Given the description of an element on the screen output the (x, y) to click on. 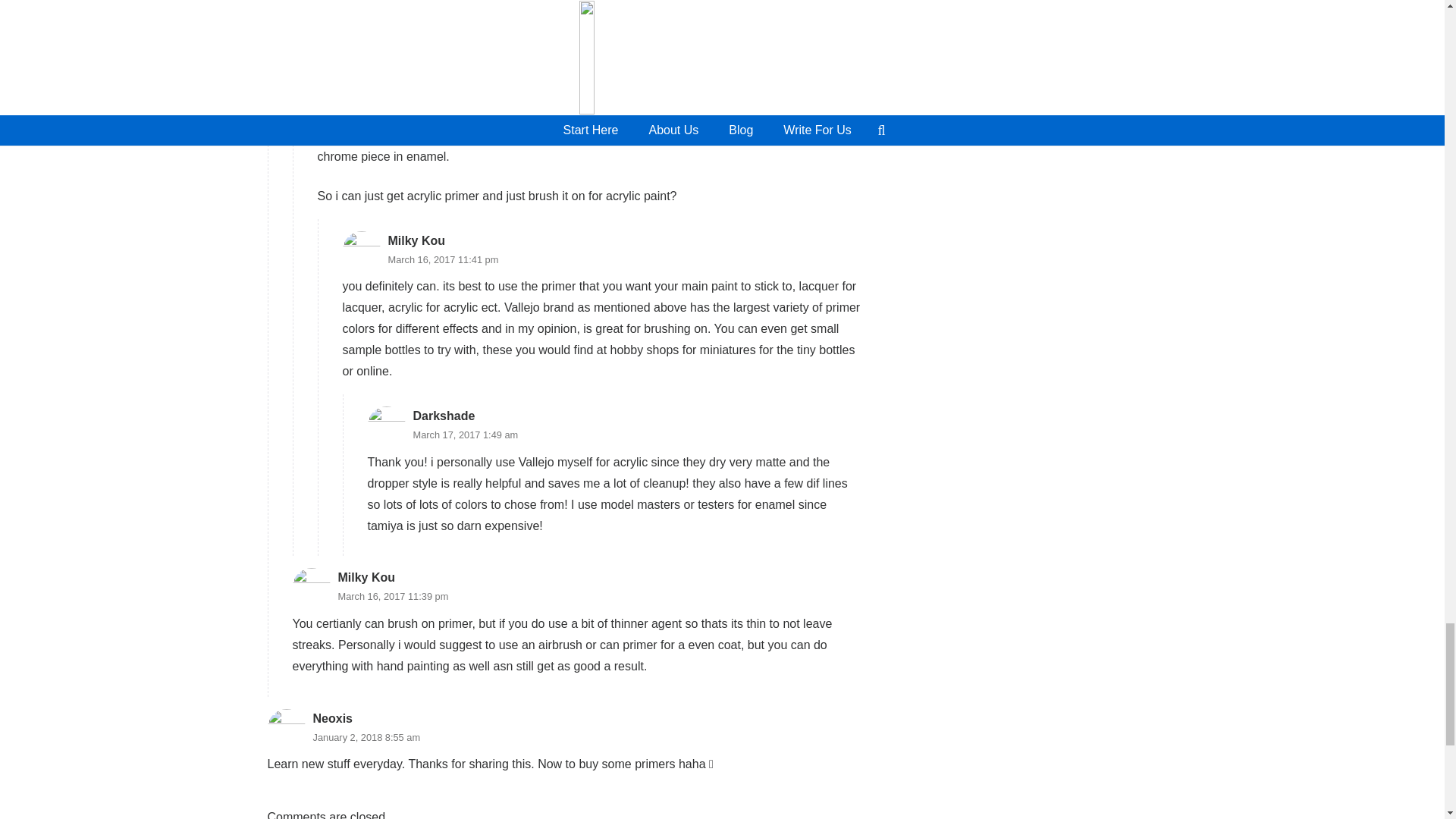
March 16, 2017 11:41 pm (443, 259)
March 16, 2017 11:39 pm (392, 595)
March 16, 2017 11:39 pm (392, 595)
January 2, 2018 8:55 am (366, 737)
March 16, 2017 11:41 pm (443, 259)
March 15, 2017 4:32 pm (414, 86)
March 17, 2017 1:49 am (465, 434)
March 15, 2017 4:32 pm (414, 86)
March 17, 2017 1:49 am (465, 434)
